Given the description of an element on the screen output the (x, y) to click on. 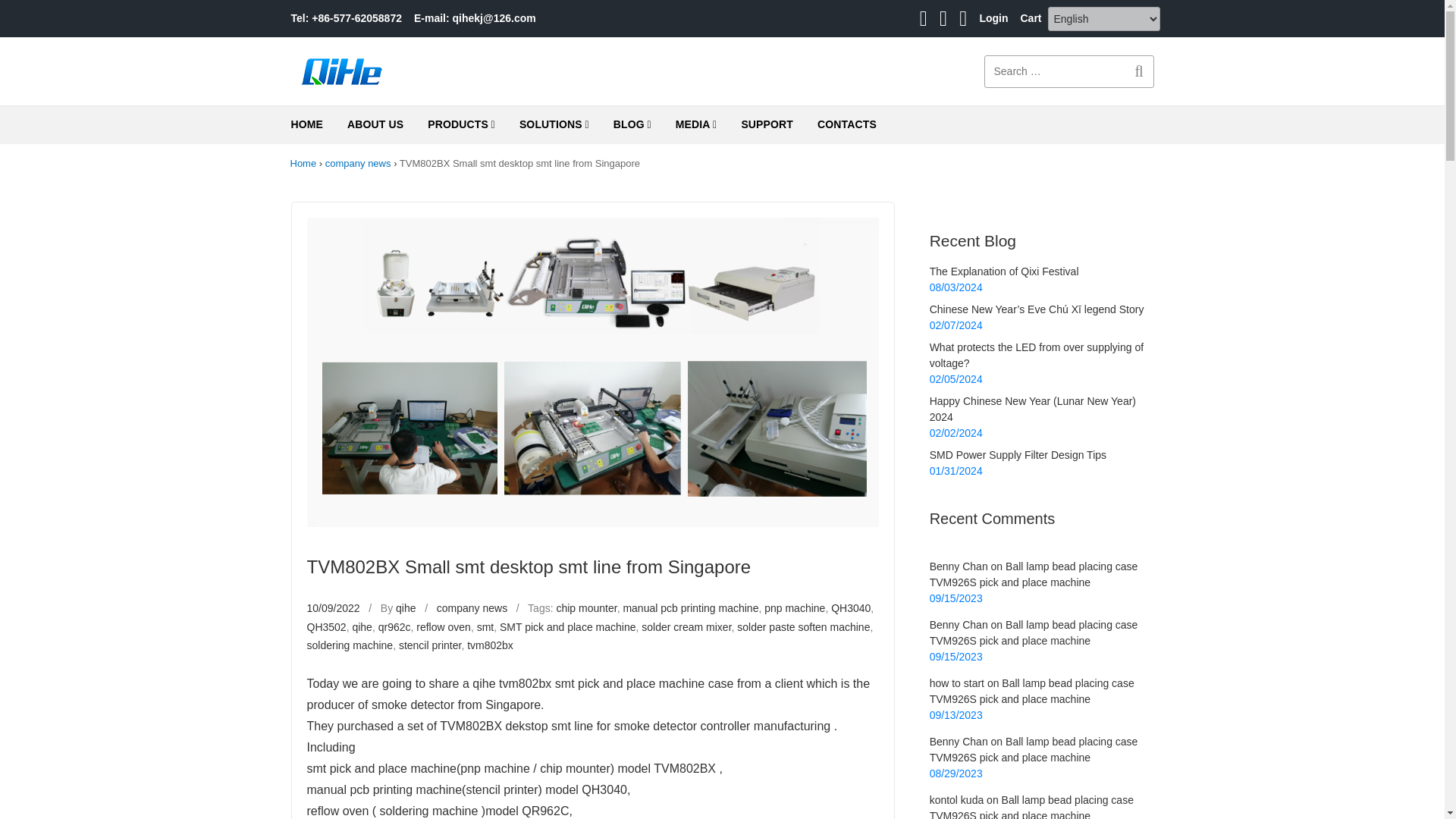
SUPPORT (767, 124)
Login (992, 18)
MEDIA (696, 125)
PRODUCTS (460, 125)
Home (302, 163)
Posts by qihe (405, 607)
BLOG (632, 125)
Cart (1030, 18)
ABOUT US (374, 124)
CONTACTS (846, 124)
HOME (307, 124)
company news (357, 163)
SOLUTIONS (553, 125)
